Given the description of an element on the screen output the (x, y) to click on. 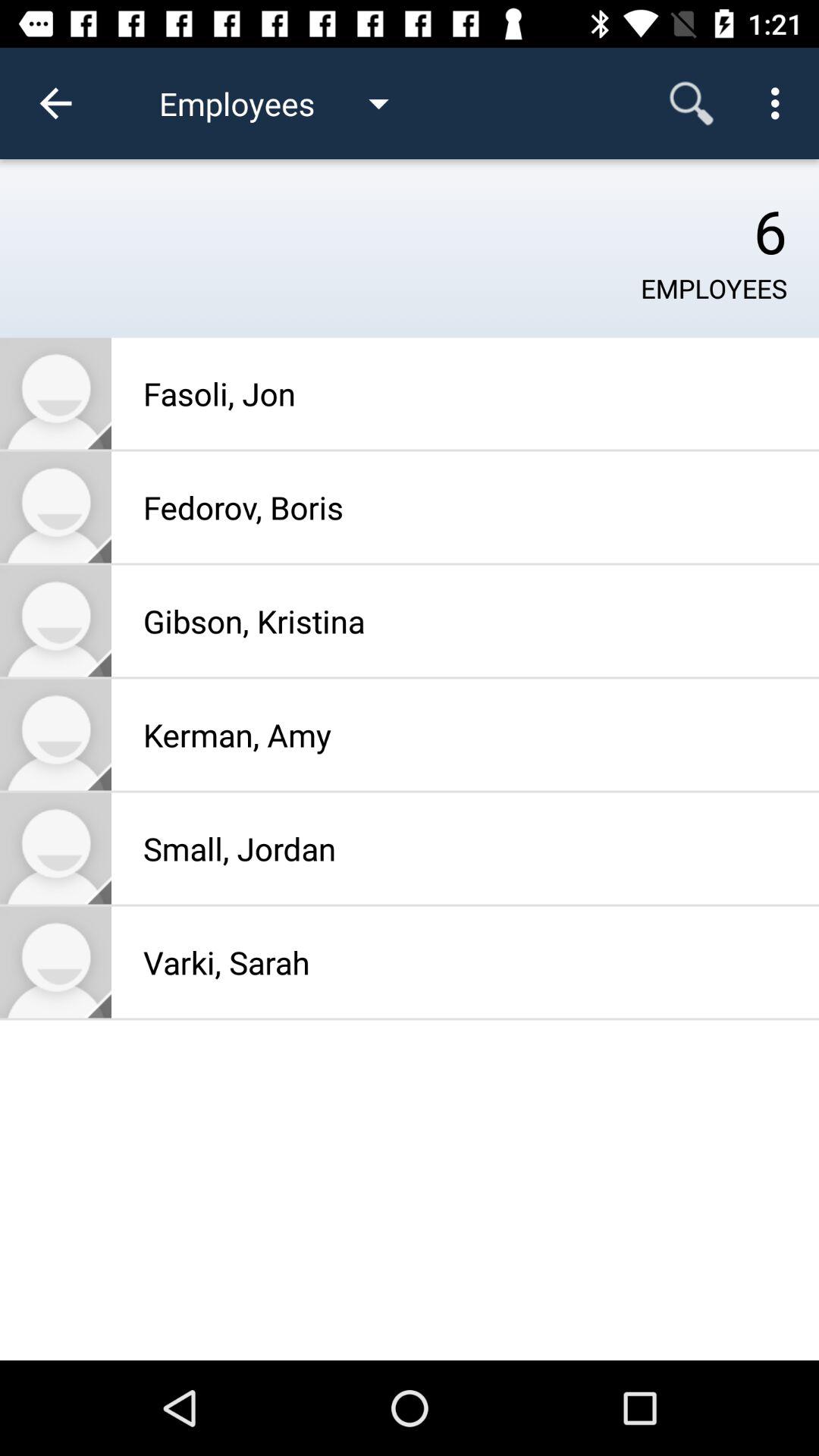
profile picture (55, 507)
